Given the description of an element on the screen output the (x, y) to click on. 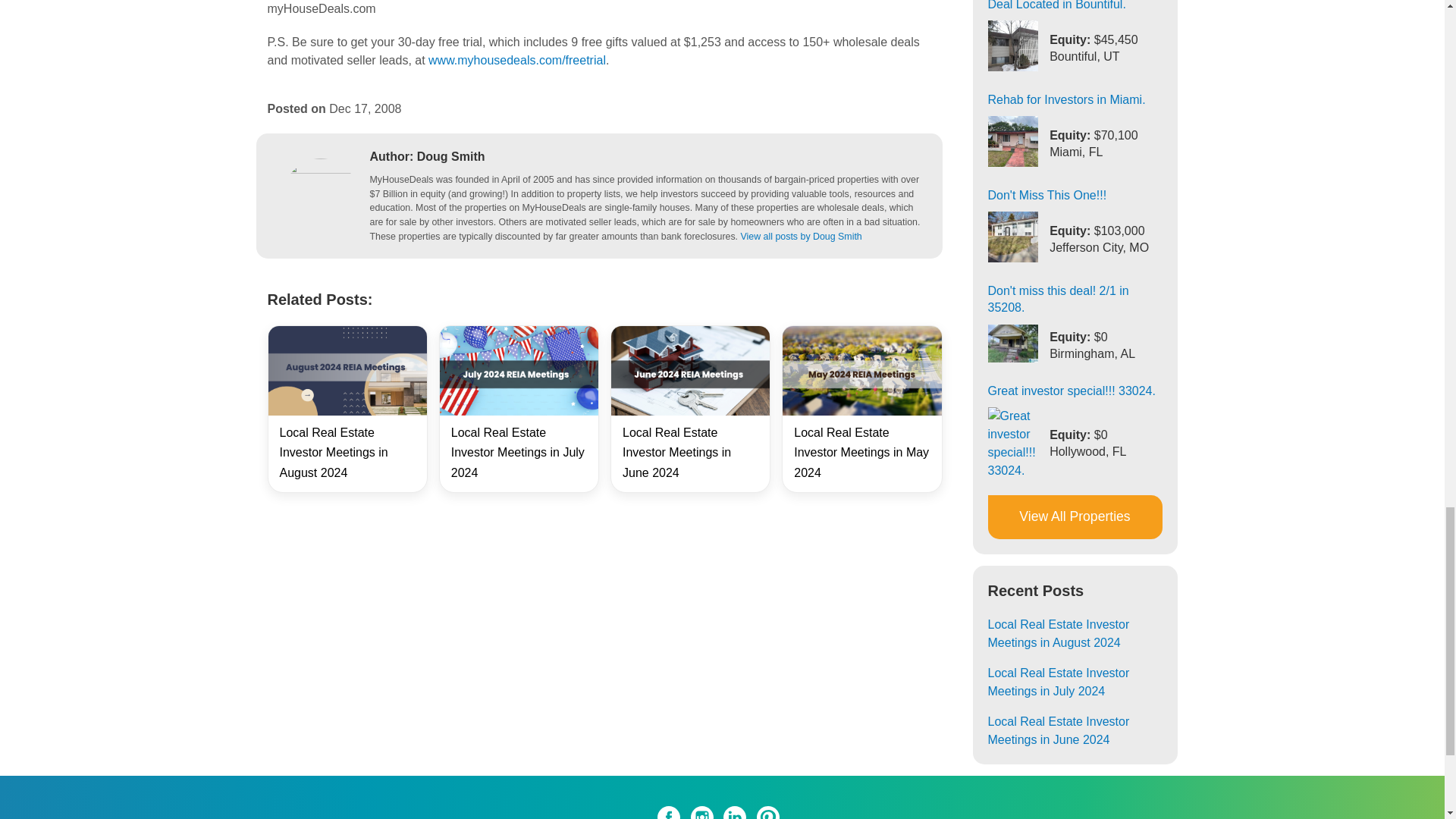
Local Real Estate Investor Meetings in July 2024 (518, 452)
Local Real Estate Investor Meetings in August 2024 (333, 452)
View all posts by Doug Smith (801, 235)
